Given the description of an element on the screen output the (x, y) to click on. 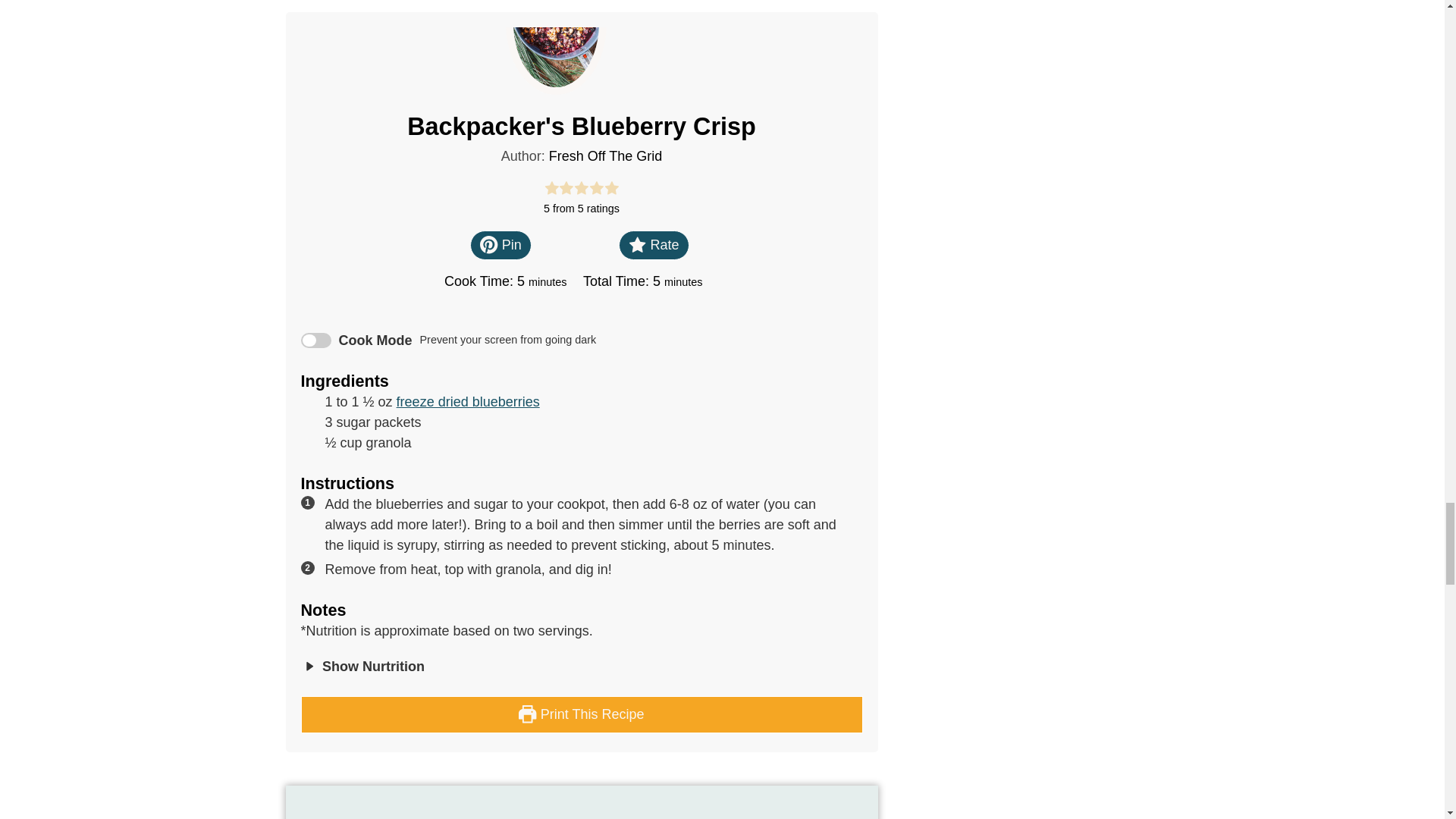
Show Nurtrition (361, 666)
Pin (500, 245)
freeze dried blueberries (468, 401)
Print This Recipe (580, 714)
Rate (653, 245)
